Given the description of an element on the screen output the (x, y) to click on. 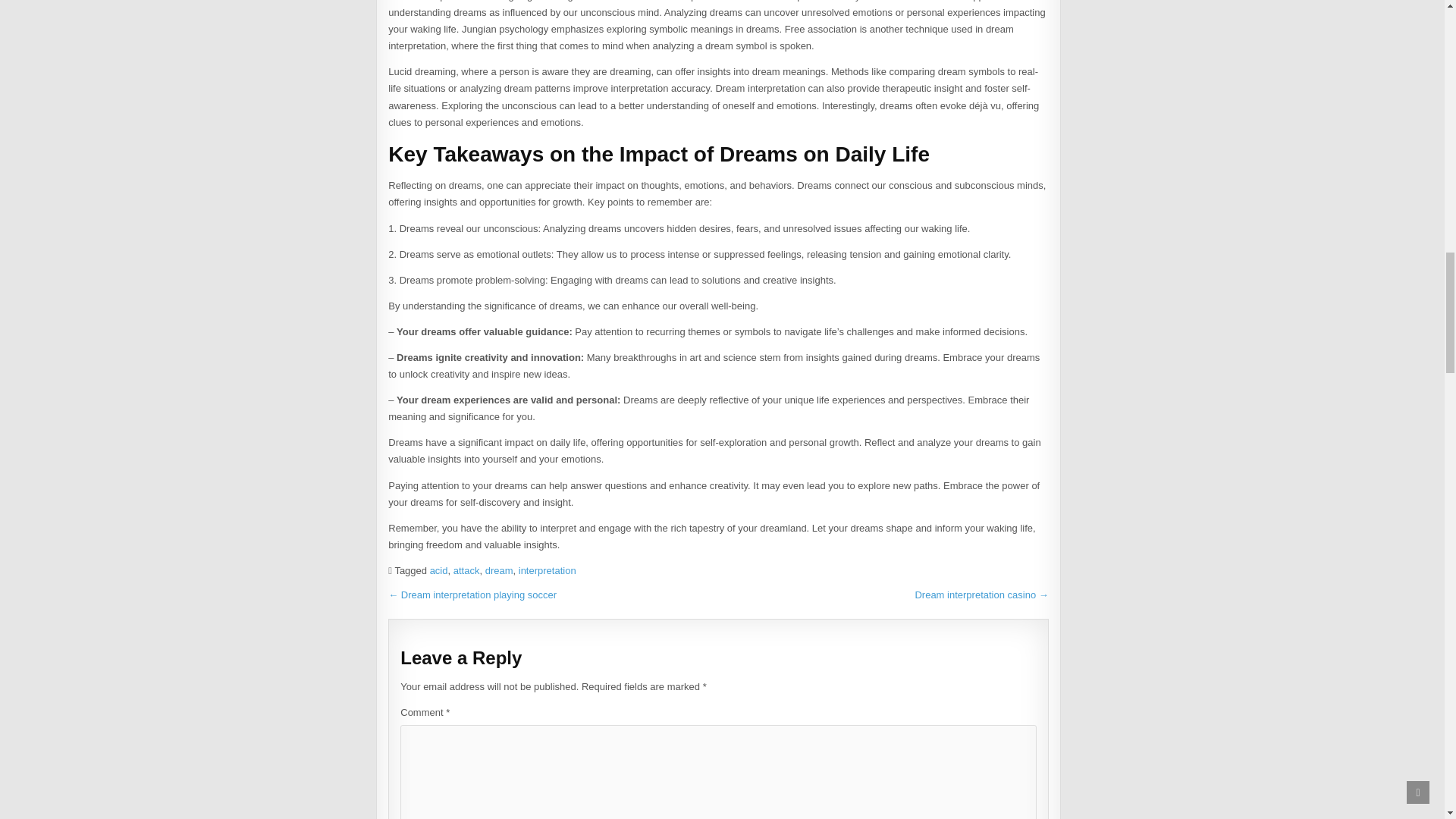
interpretation (547, 570)
acid (438, 570)
attack (466, 570)
dream (498, 570)
